Given the description of an element on the screen output the (x, y) to click on. 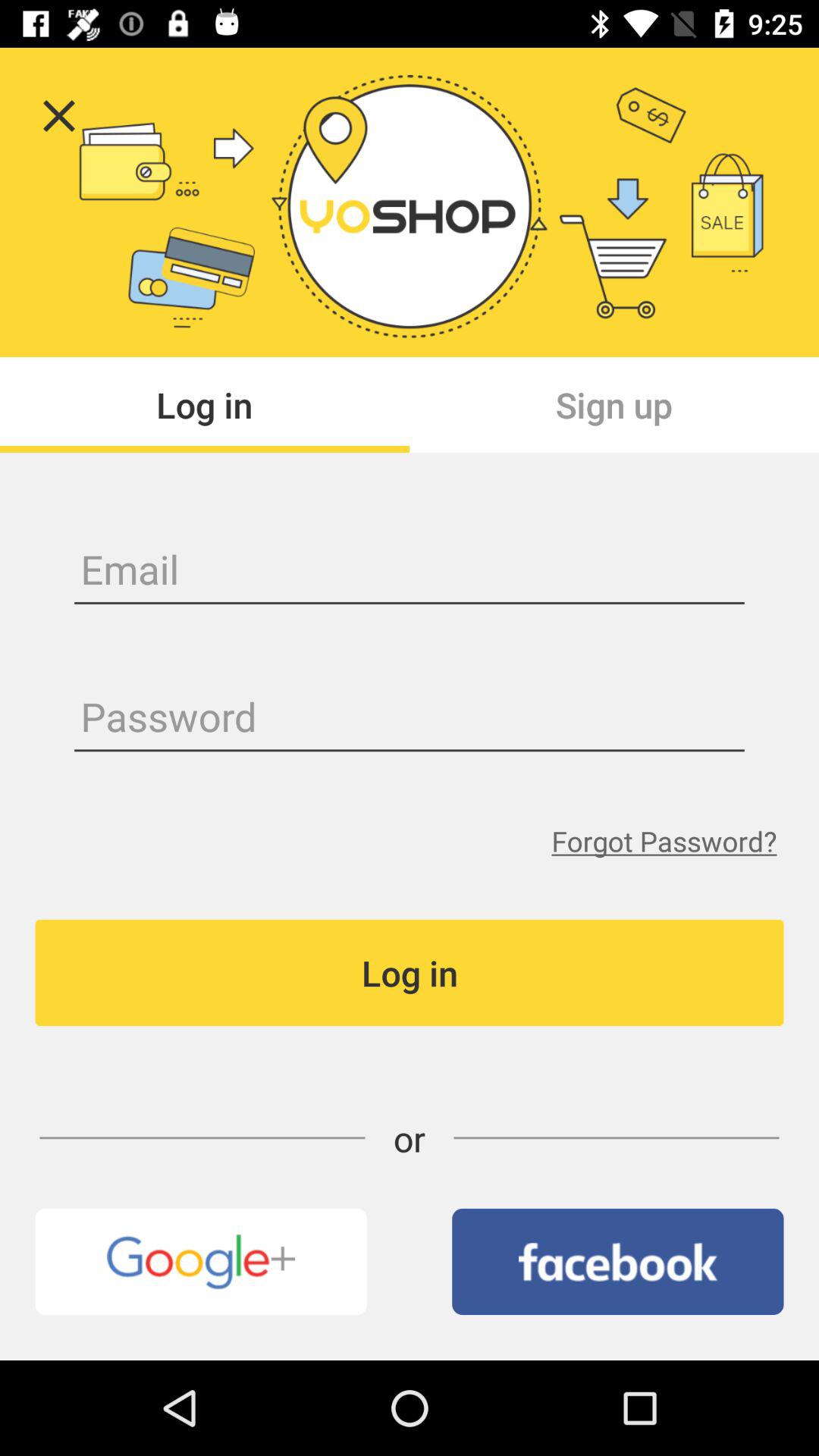
enter your email (409, 571)
